Given the description of an element on the screen output the (x, y) to click on. 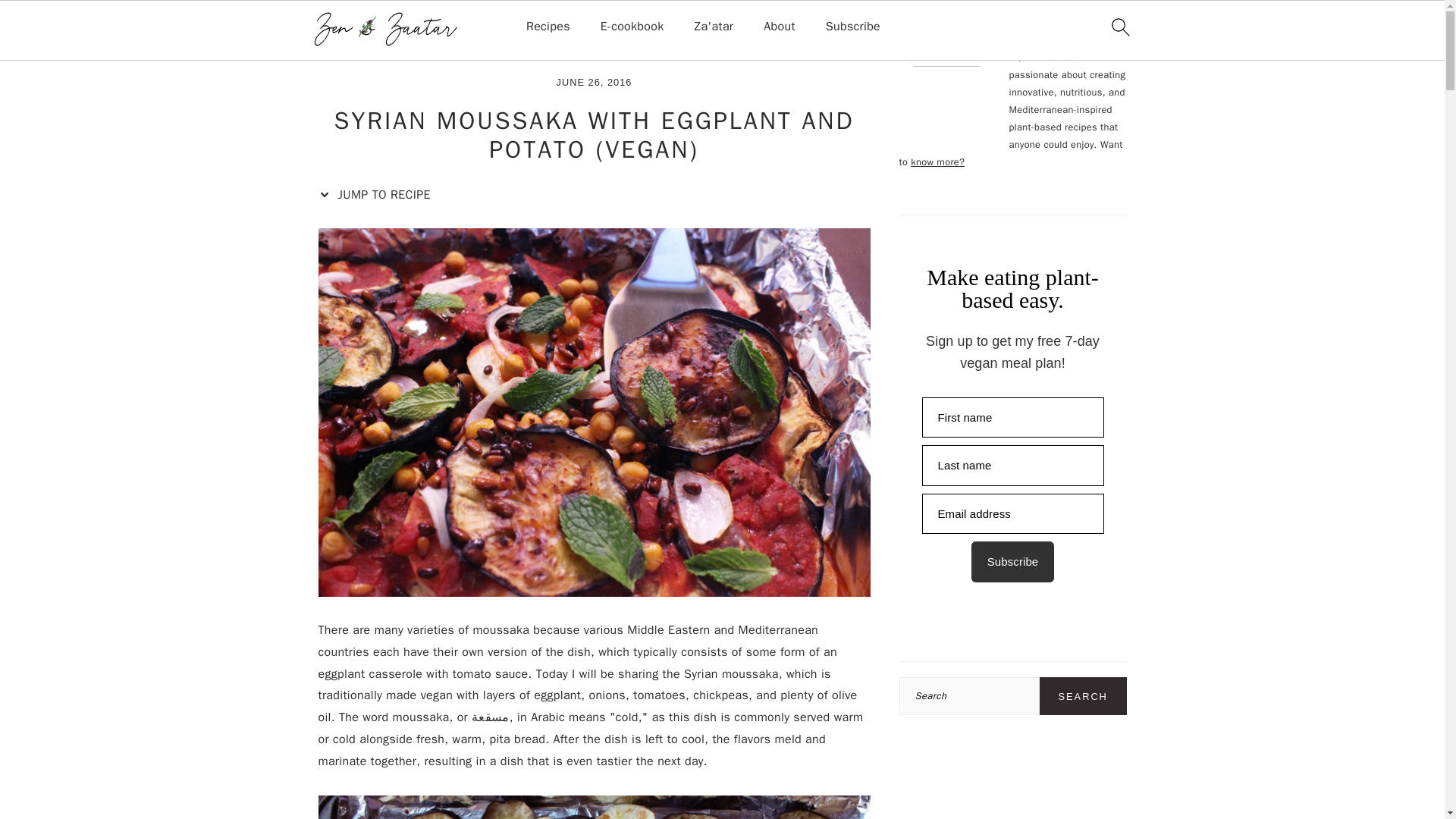
Search (1082, 695)
Recipes (384, 50)
Subscribe (852, 26)
search icon (1119, 26)
Search (1082, 695)
JUMP TO RECIPE (378, 194)
Recipes (547, 26)
E-cookbook (631, 26)
About (778, 26)
Za'atar (713, 26)
